Given the description of an element on the screen output the (x, y) to click on. 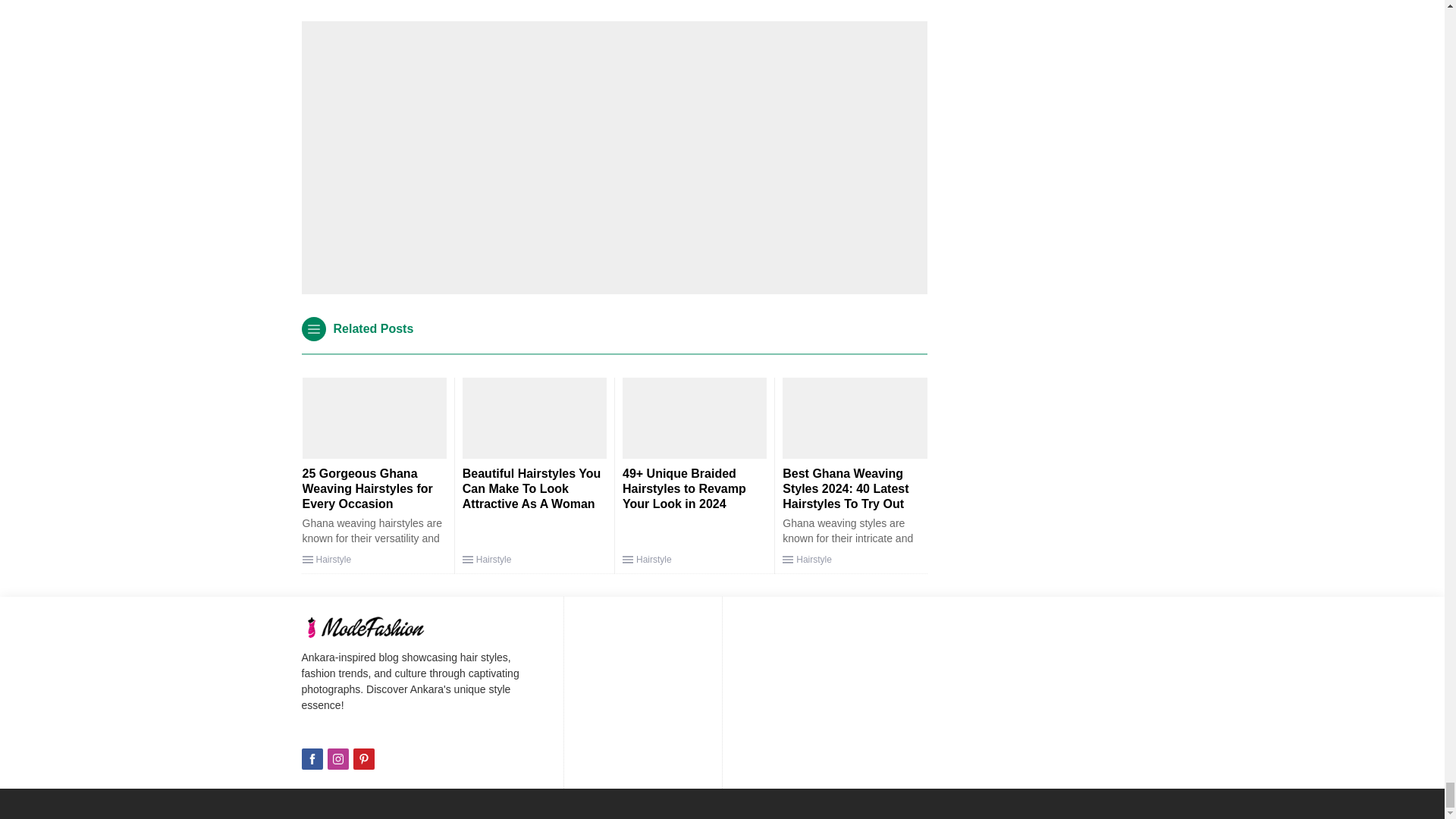
Pinterest (363, 758)
Hairstyle (494, 559)
25 Gorgeous Ghana Weaving Hairstyles for Every Occasion (366, 488)
Fashion Lifestyle Trends (381, 626)
Hairstyle (653, 559)
Facebook (312, 758)
Hairstyle (332, 559)
Instagram (338, 758)
